Given the description of an element on the screen output the (x, y) to click on. 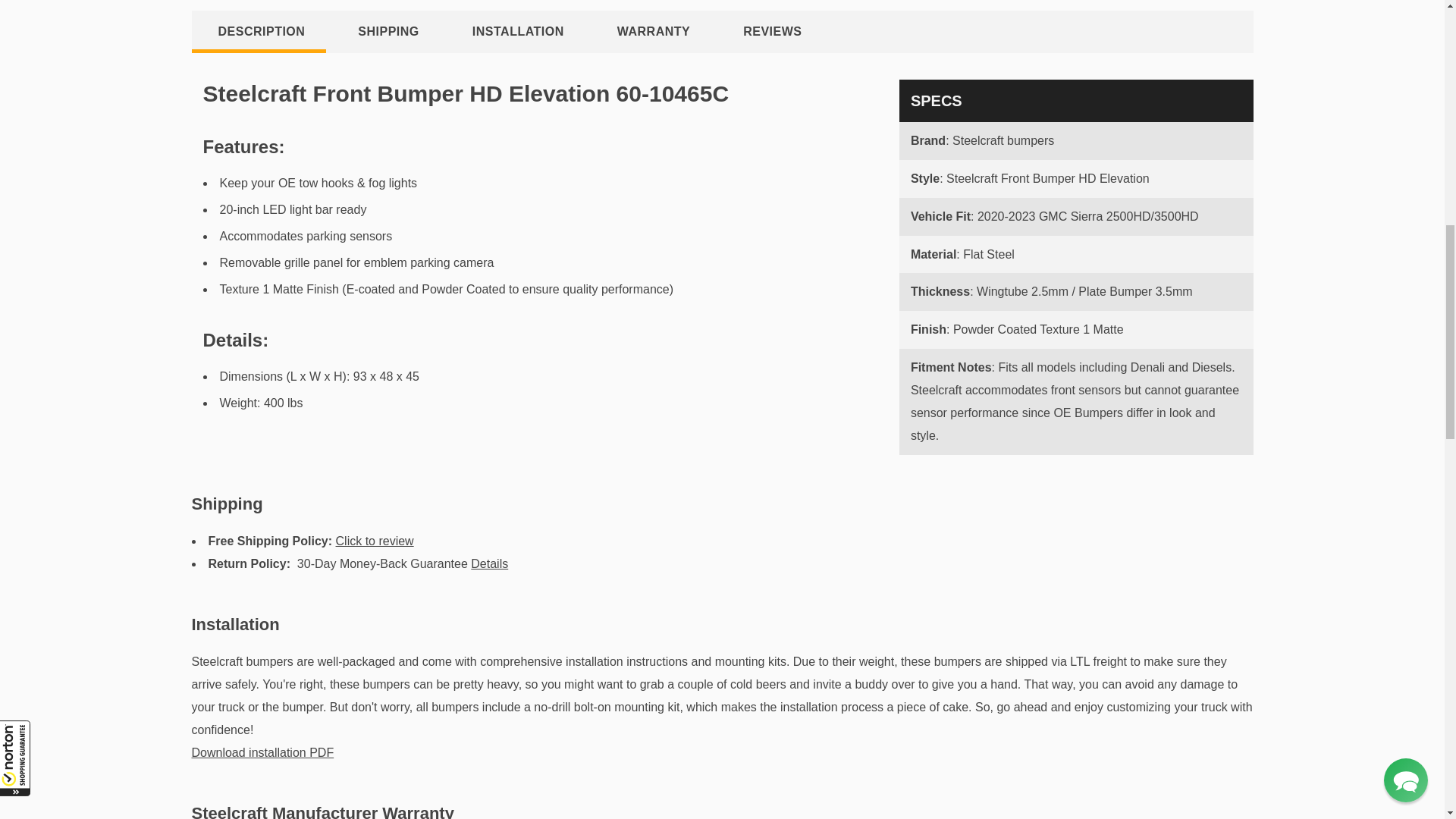
Steelcraft bumpers (1003, 140)
Free shipping policy BumperStock (374, 540)
BumperStock Return Policy  (489, 563)
